Given the description of an element on the screen output the (x, y) to click on. 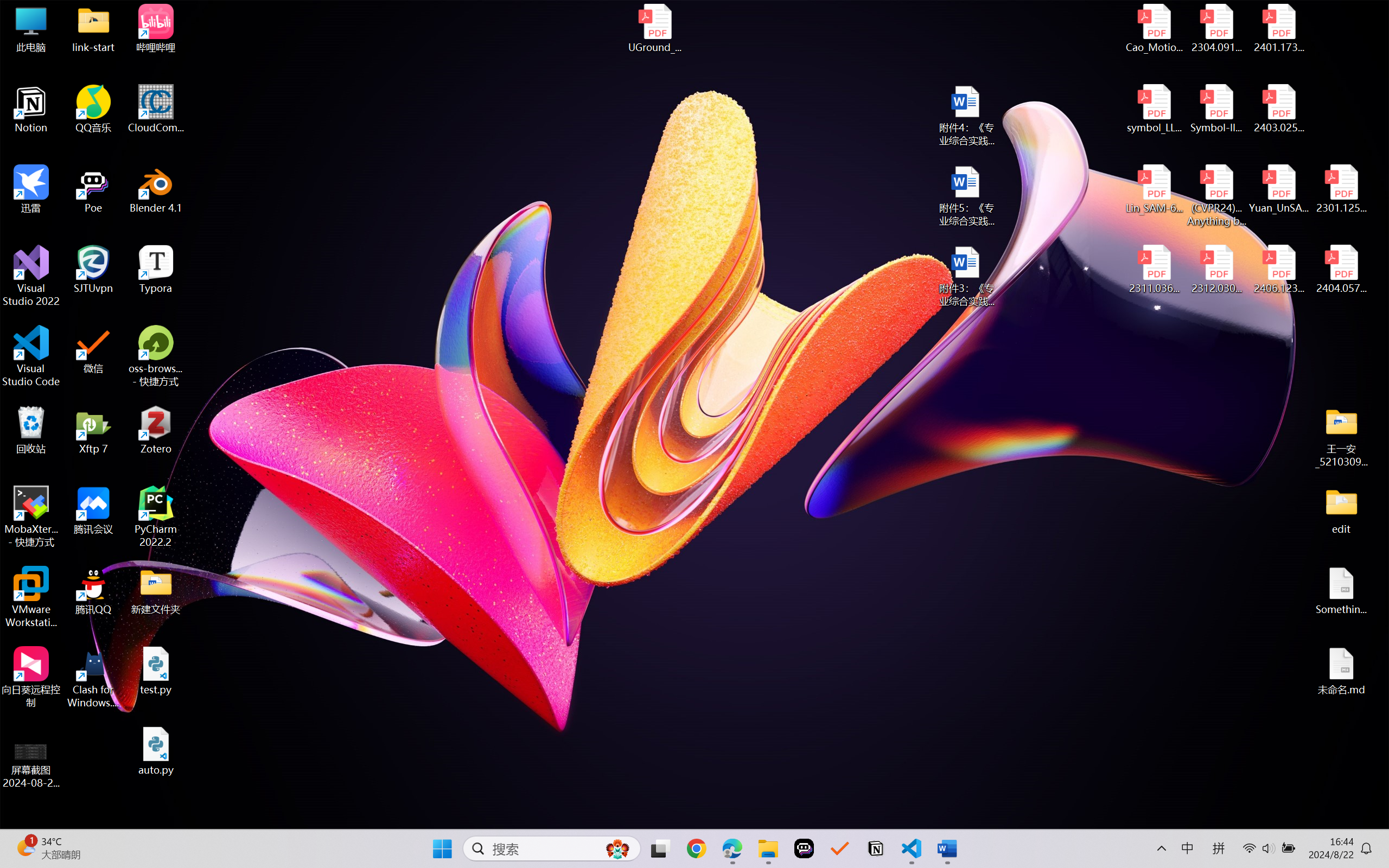
PyCharm 2022.2 (156, 516)
2401.17399v1.pdf (1278, 28)
VMware Workstation Pro (31, 597)
Symbol-llm-v2.pdf (1216, 109)
SJTUvpn (93, 269)
